Given the description of an element on the screen output the (x, y) to click on. 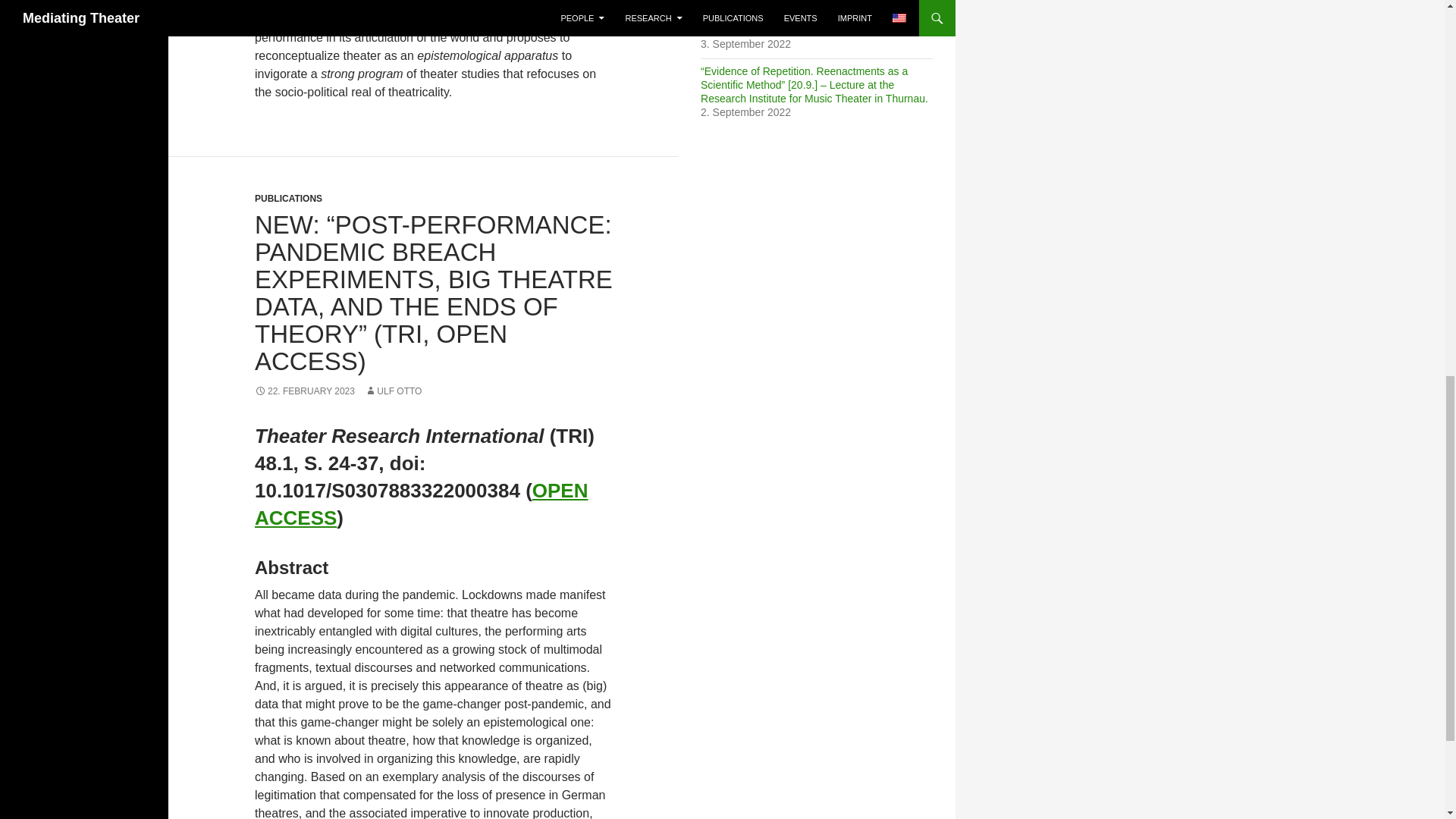
OPEN ACCESS (421, 504)
ULF OTTO (393, 390)
22. FEBRUARY 2023 (304, 390)
PUBLICATIONS (287, 198)
